Given the description of an element on the screen output the (x, y) to click on. 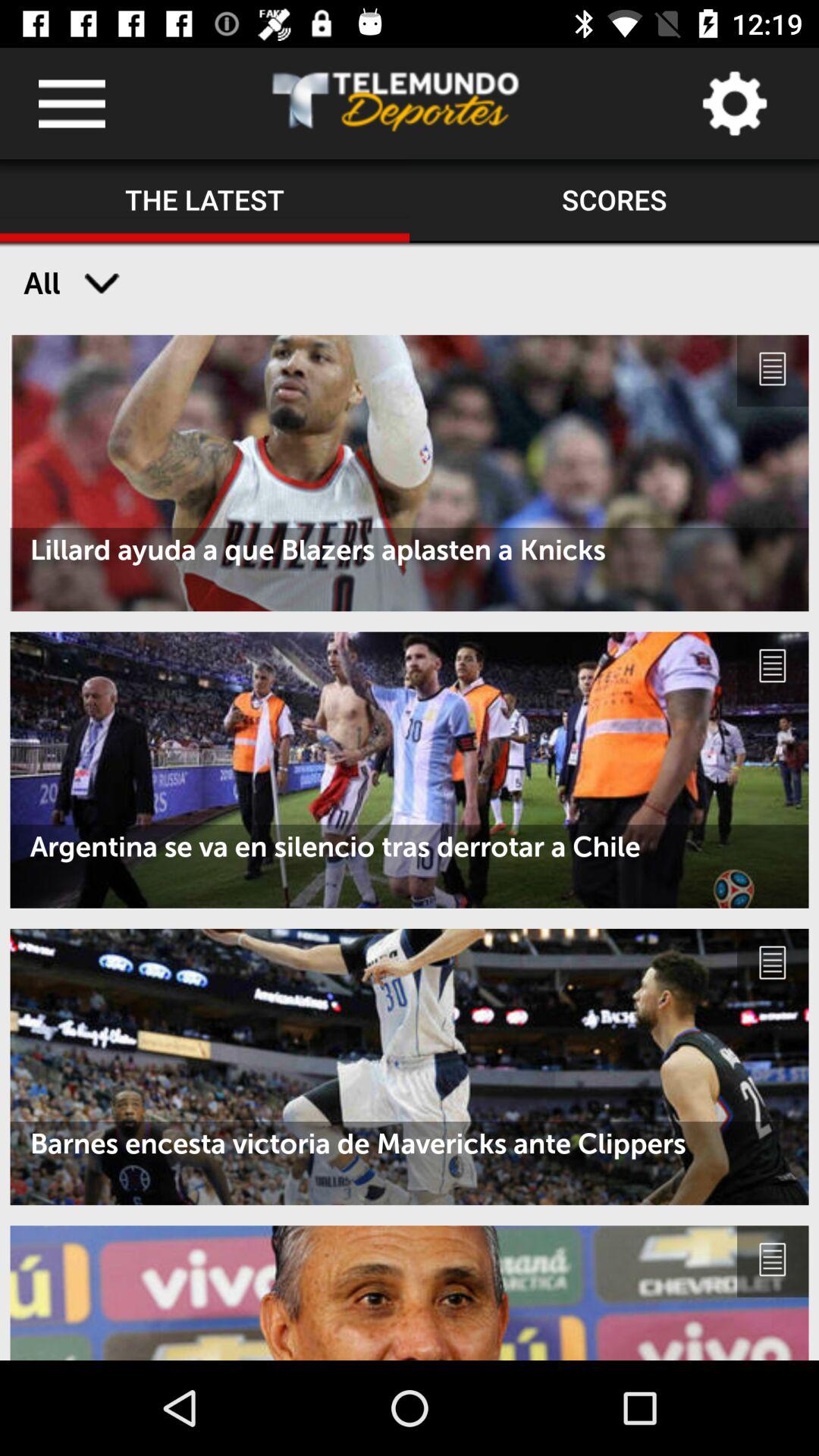
swipe to the latest (204, 200)
